Given the description of an element on the screen output the (x, y) to click on. 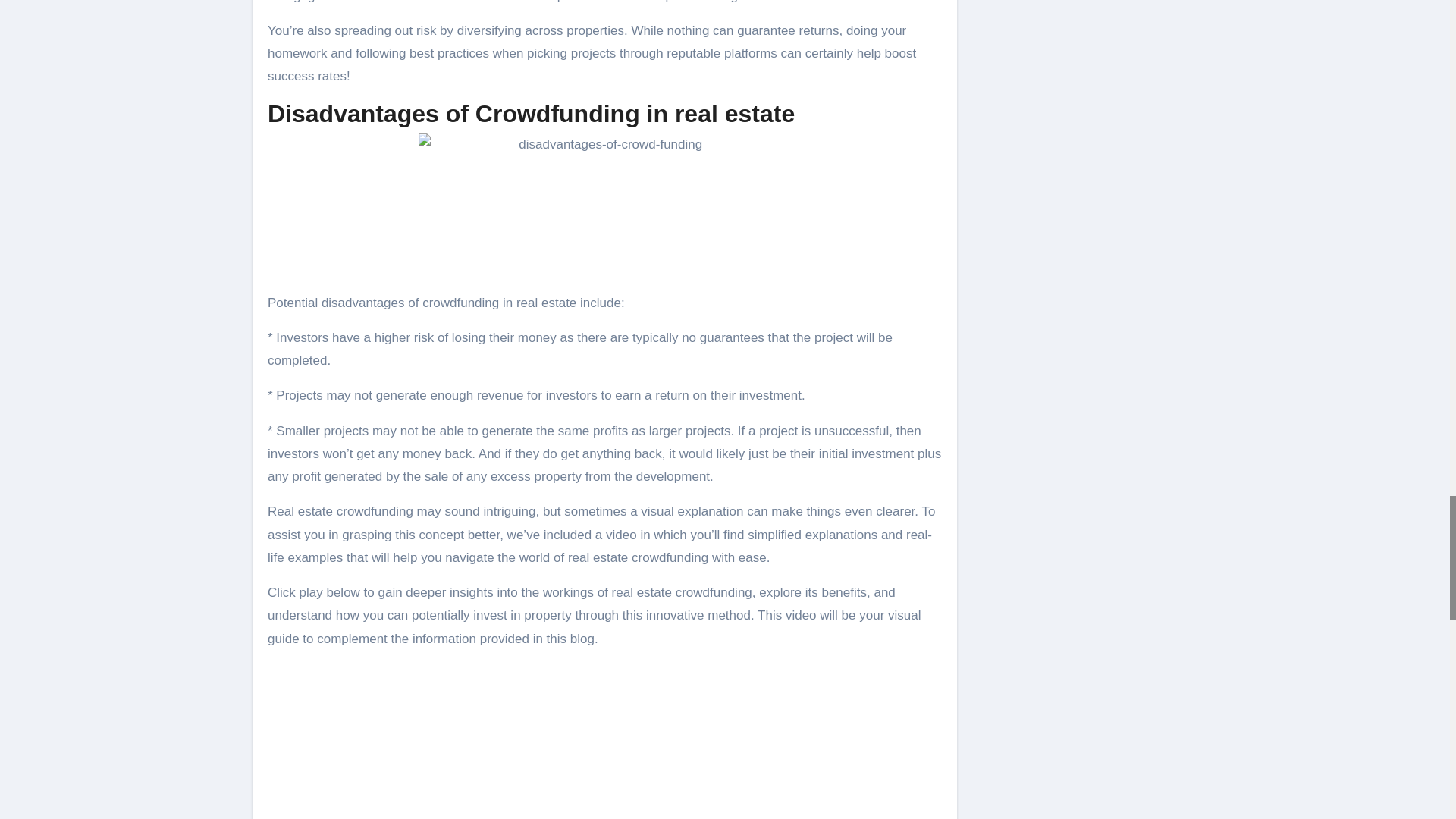
YouTube video player (603, 740)
